Given the description of an element on the screen output the (x, y) to click on. 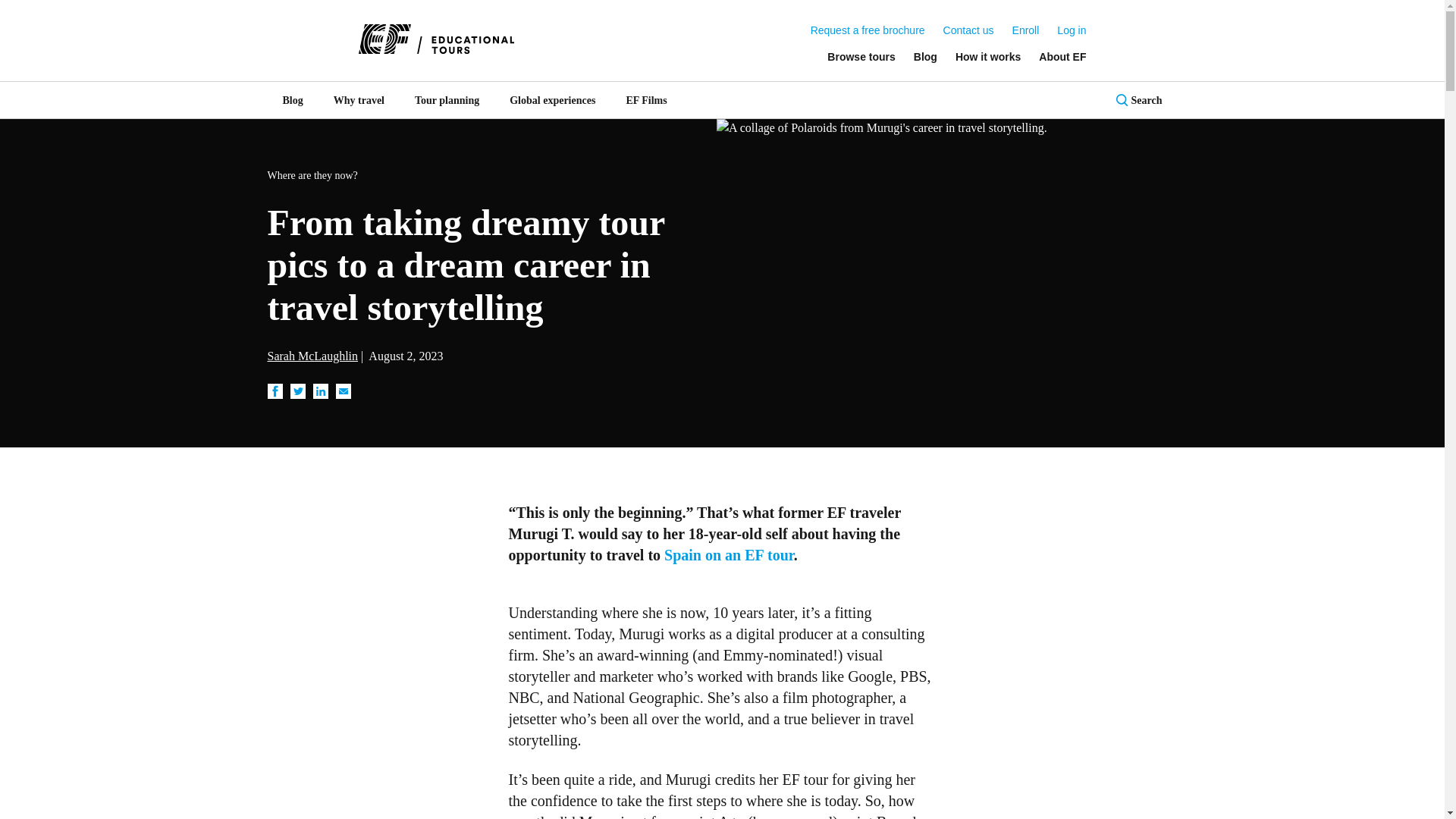
Global experiences (552, 99)
Email (342, 391)
Enroll (1025, 30)
Blog (925, 55)
Browse tours (861, 55)
EF Films (645, 99)
Tour planning (446, 99)
Why travel (358, 99)
Blog (291, 99)
How it works (987, 55)
Log in (1071, 30)
Facebook (274, 391)
Twitter (296, 391)
Contact us (968, 30)
LinkedIn (320, 391)
